Given the description of an element on the screen output the (x, y) to click on. 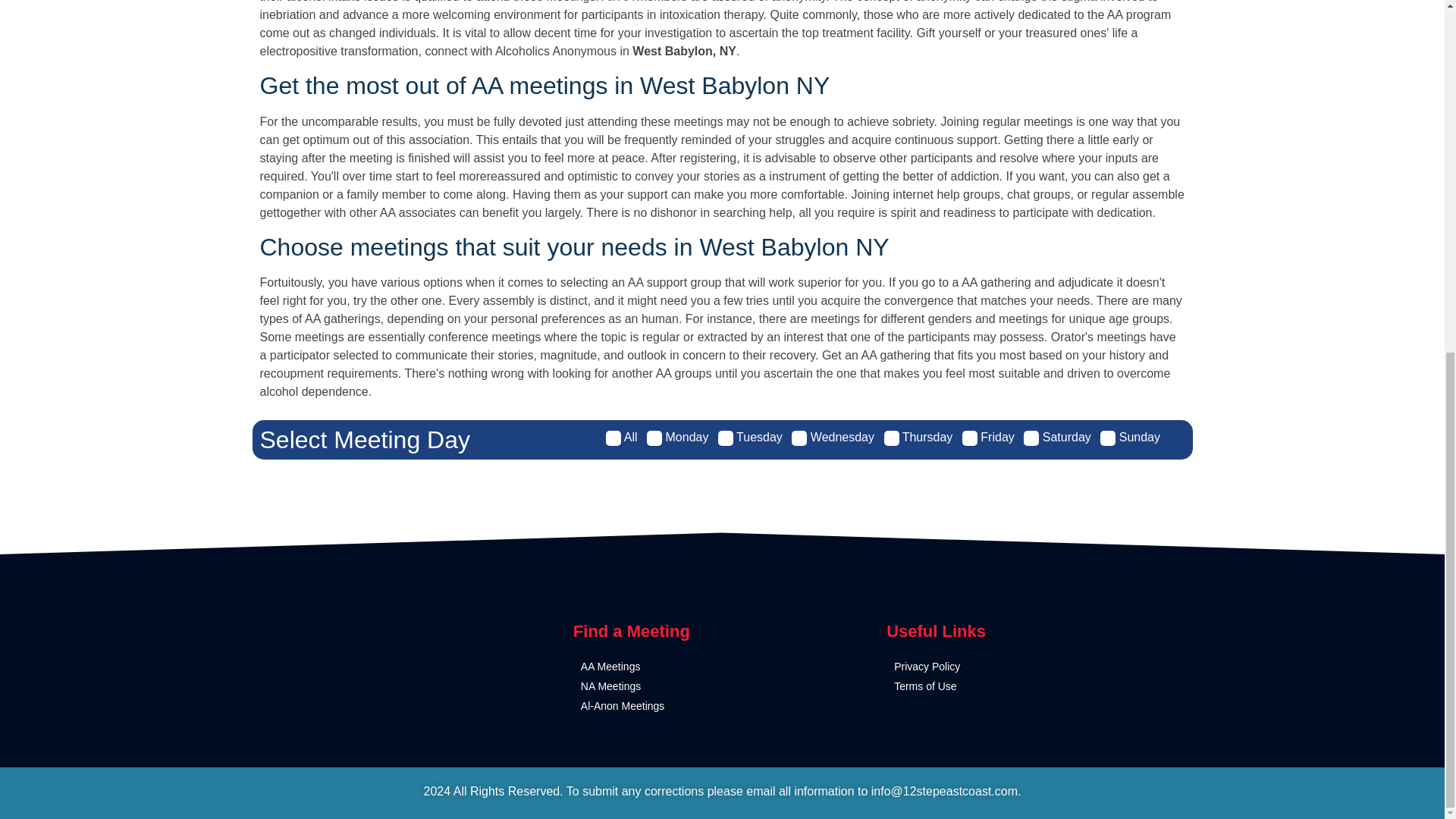
AA Meetings (725, 666)
Privacy Policy (1039, 666)
Al-Anon Meetings (725, 706)
Terms of Use (1039, 686)
NA Meetings (725, 686)
